Given the description of an element on the screen output the (x, y) to click on. 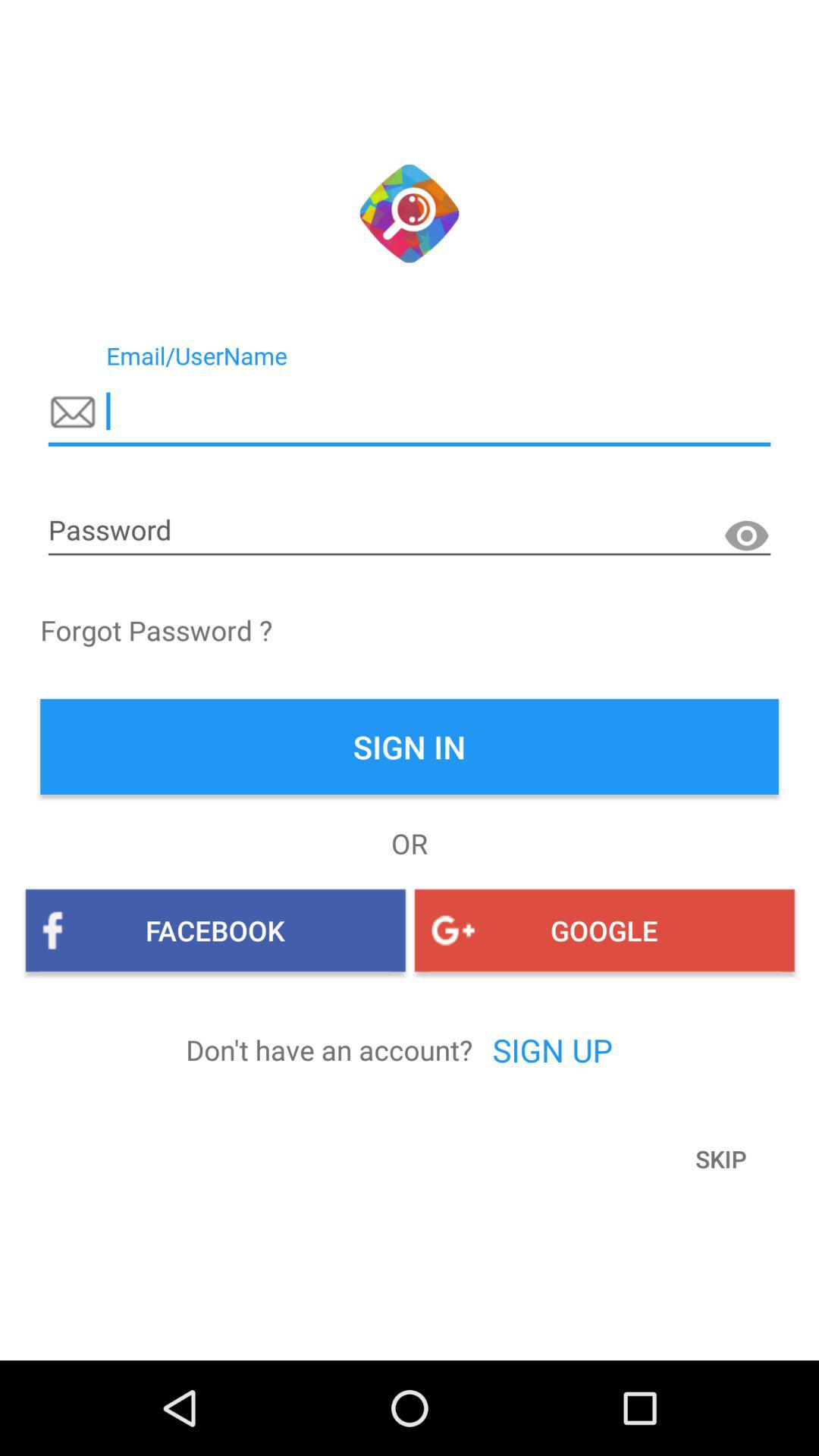
enter user name (409, 412)
